Given the description of an element on the screen output the (x, y) to click on. 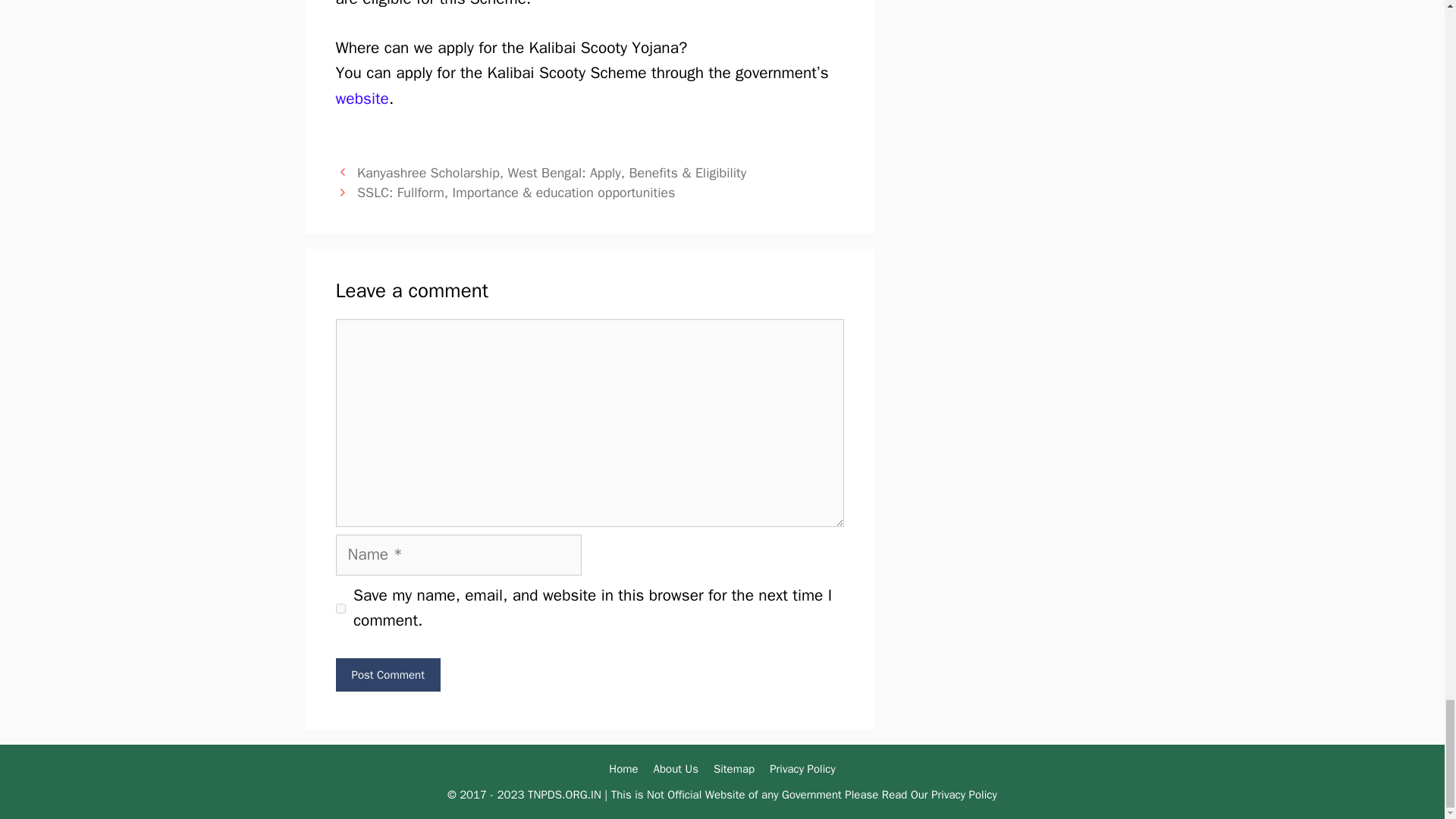
website (361, 98)
Post Comment (386, 675)
Post Comment (386, 675)
Home (622, 768)
yes (339, 608)
